Given the description of an element on the screen output the (x, y) to click on. 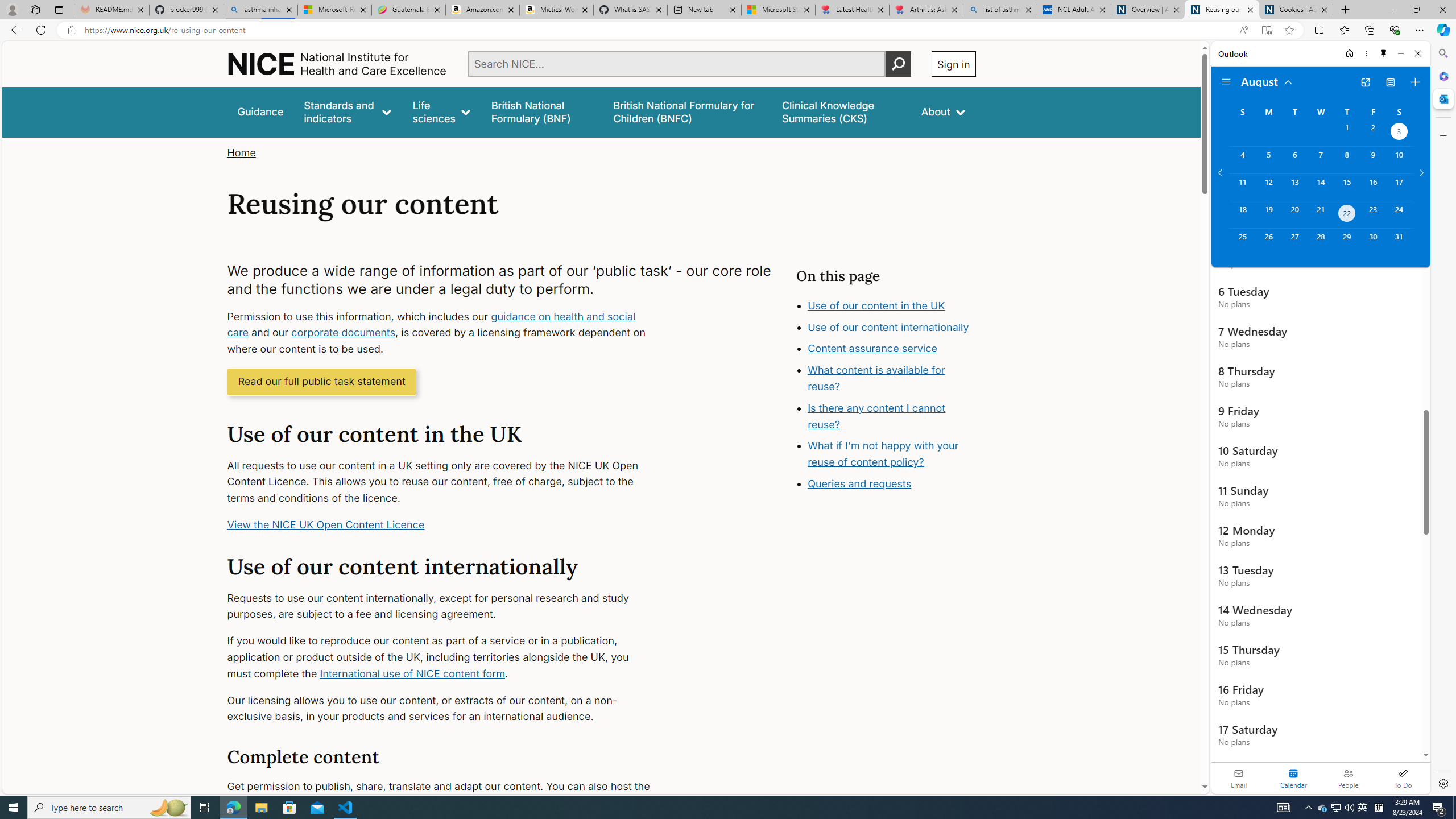
Tuesday, August 20, 2024.  (1294, 214)
Tuesday, August 27, 2024.  (1294, 241)
Thursday, August 15, 2024.  (1346, 186)
Use of our content internationally (896, 352)
Open in new tab (1365, 82)
What content is available for reuse? (896, 402)
Sunday, August 4, 2024.  (1242, 159)
